Given the description of an element on the screen output the (x, y) to click on. 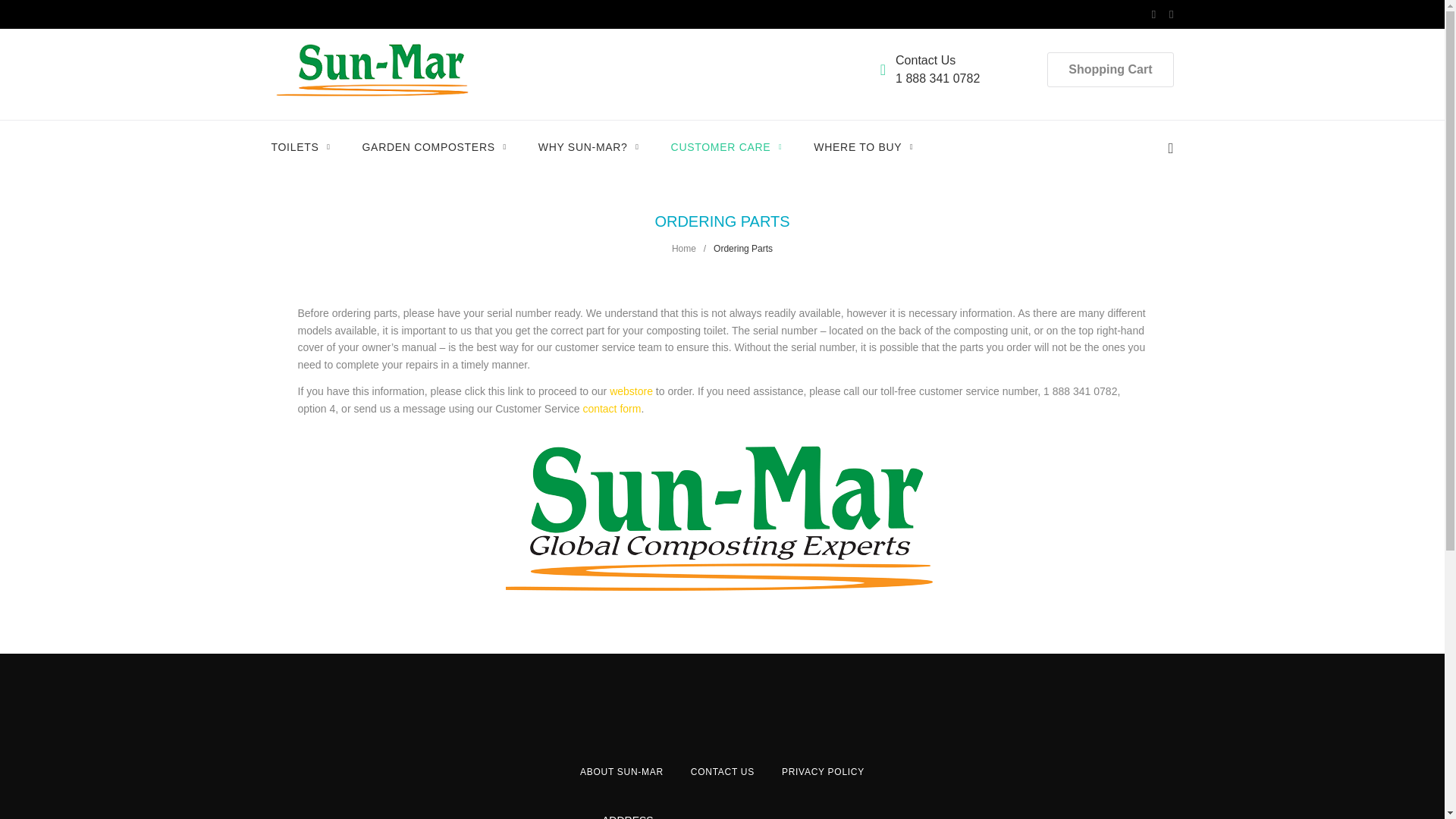
TOILETS (300, 147)
GARDEN COMPOSTERS (434, 147)
WHY SUN-MAR? (588, 147)
Shopping Cart (1109, 69)
Home (683, 248)
